Given the description of an element on the screen output the (x, y) to click on. 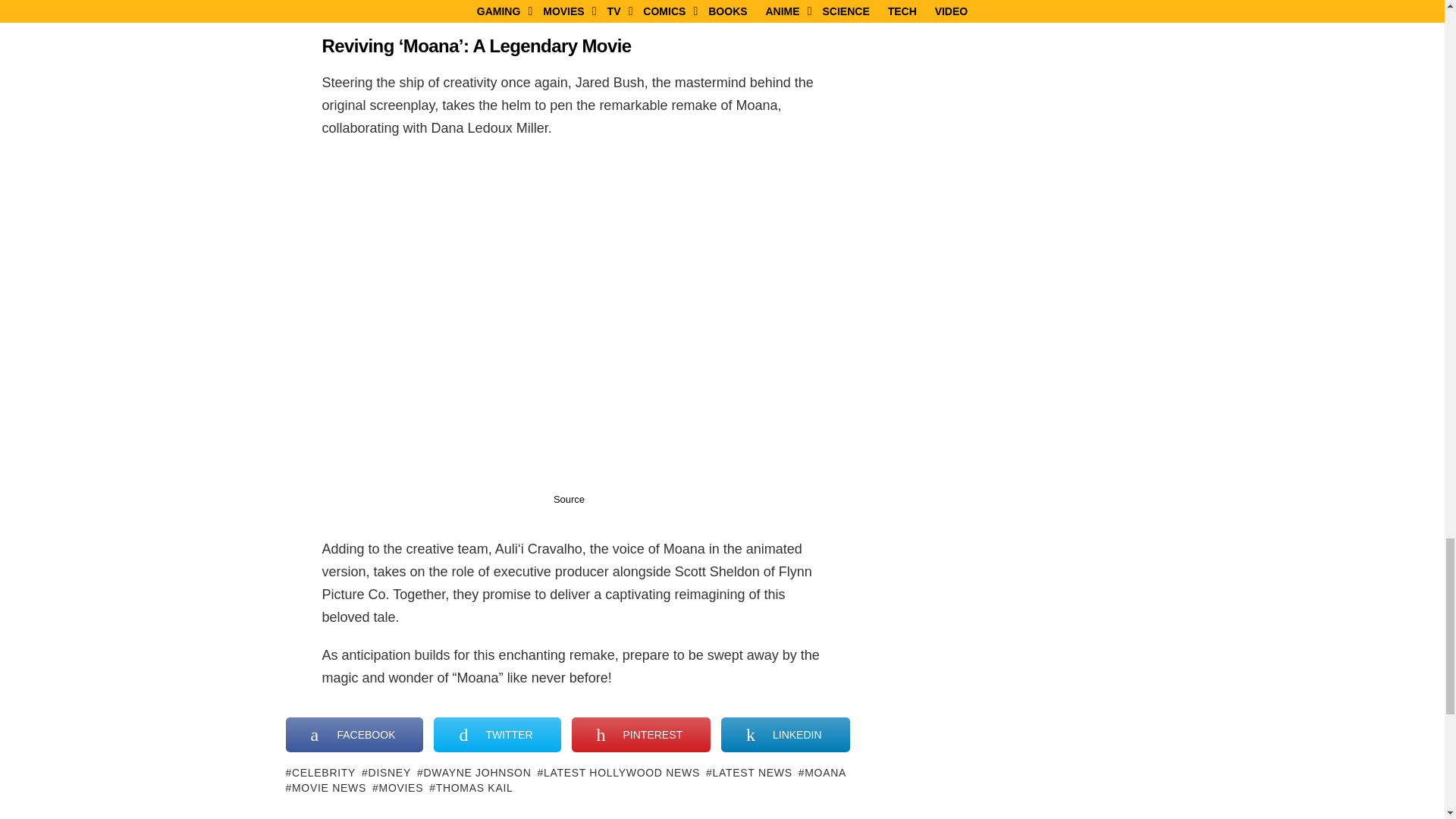
Share on LinkedIn (784, 734)
Share on Facebook (354, 734)
Share on Pinterest (641, 734)
Share on Twitter (496, 734)
